Given the description of an element on the screen output the (x, y) to click on. 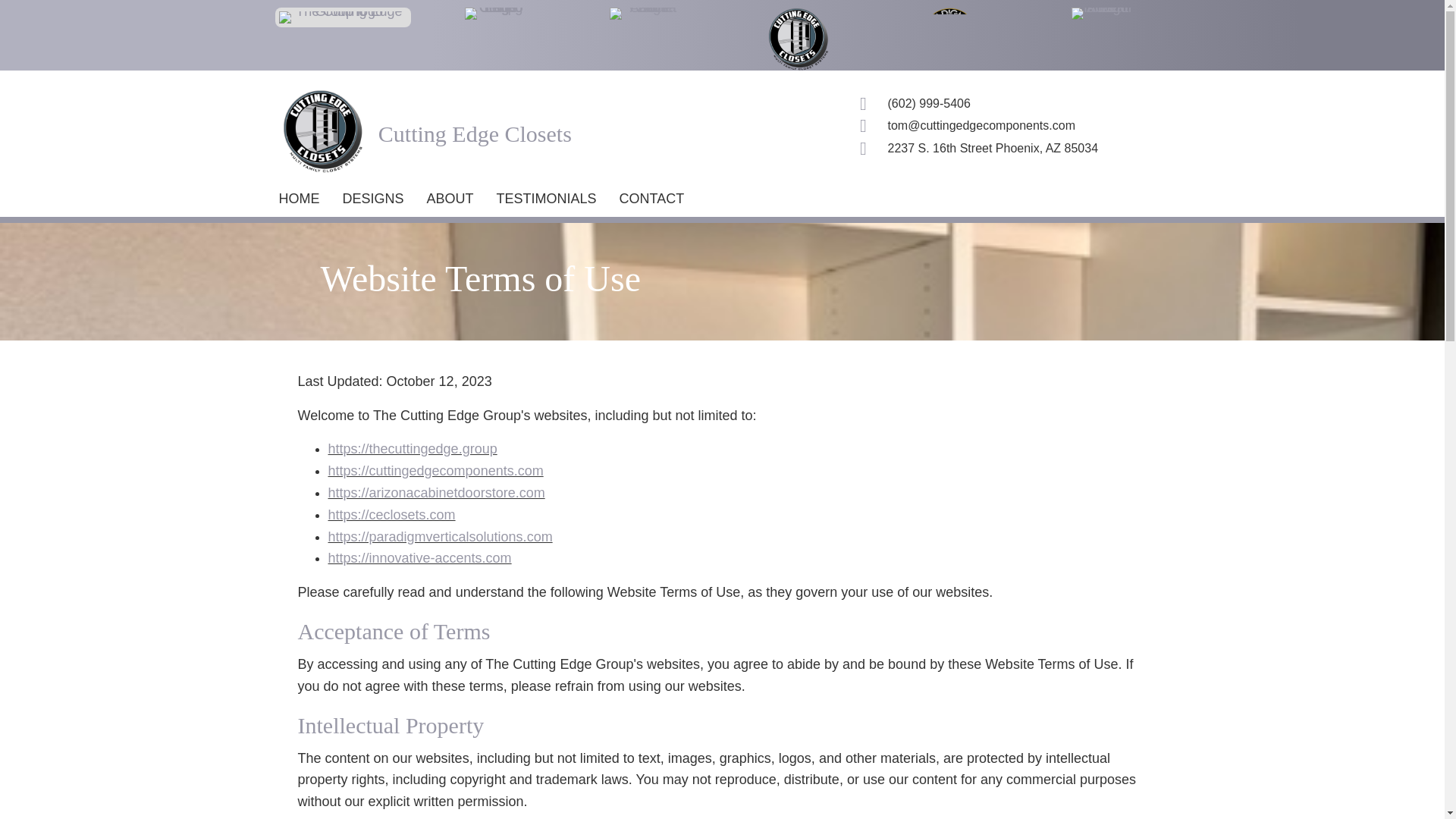
Arizona Cabinet Door Store (647, 13)
Paradigm Vertical Solutions Logo (949, 38)
DESIGNS (373, 198)
Innovative Accents Logo (1101, 13)
CONTACT (652, 198)
HOME (298, 198)
The Cutting Edge Group logo (343, 17)
ABOUT (450, 198)
Cutting Edge Closets Logo (798, 38)
TESTIMONIALS (546, 198)
